Given the description of an element on the screen output the (x, y) to click on. 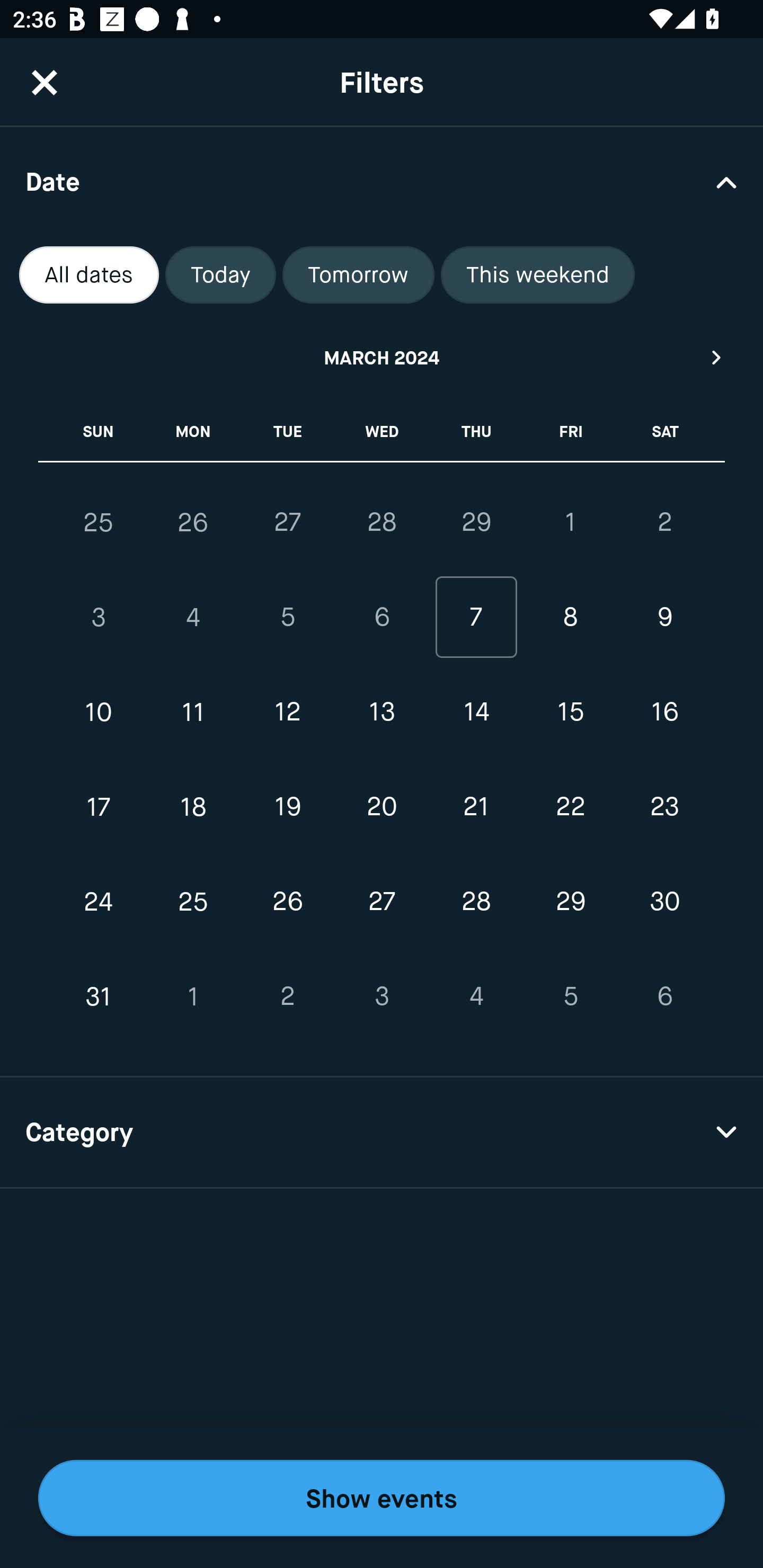
CloseButton (44, 82)
Date Drop Down Arrow (381, 181)
All dates (88, 274)
Today (220, 274)
Tomorrow (358, 274)
This weekend (537, 274)
Next (717, 357)
25 (98, 522)
26 (192, 522)
27 (287, 522)
28 (381, 522)
29 (475, 522)
1 (570, 522)
2 (664, 522)
3 (98, 617)
4 (192, 617)
5 (287, 617)
6 (381, 617)
7 (475, 617)
8 (570, 617)
9 (664, 617)
10 (98, 711)
11 (192, 711)
12 (287, 711)
13 (381, 711)
14 (475, 711)
15 (570, 711)
16 (664, 711)
17 (98, 806)
18 (192, 806)
19 (287, 806)
20 (381, 806)
21 (475, 806)
22 (570, 806)
23 (664, 806)
24 (98, 901)
25 (192, 901)
26 (287, 901)
27 (381, 901)
28 (475, 901)
29 (570, 901)
30 (664, 901)
31 (98, 996)
1 (192, 996)
2 (287, 996)
3 (381, 996)
4 (475, 996)
5 (570, 996)
6 (664, 996)
Category Drop Down Arrow (381, 1132)
Show events (381, 1497)
